Given the description of an element on the screen output the (x, y) to click on. 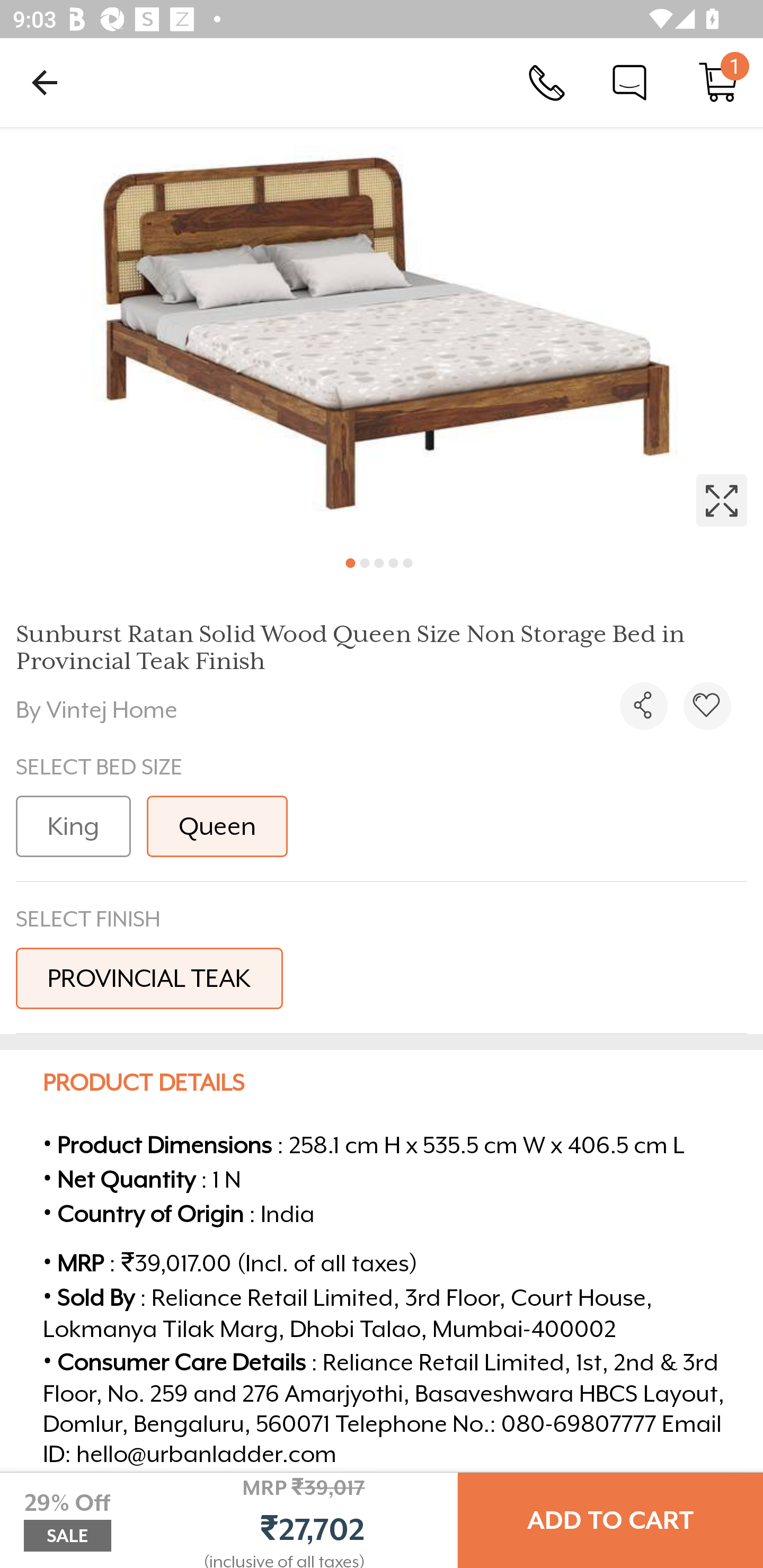
Navigate up (44, 82)
Call Us (546, 81)
Chat (629, 81)
Cart (718, 81)
 (381, 334)
 (643, 706)
 (706, 706)
King (73, 825)
Queen (216, 825)
PROVINCIAL TEAK (149, 978)
ADD TO CART (610, 1520)
